Given the description of an element on the screen output the (x, y) to click on. 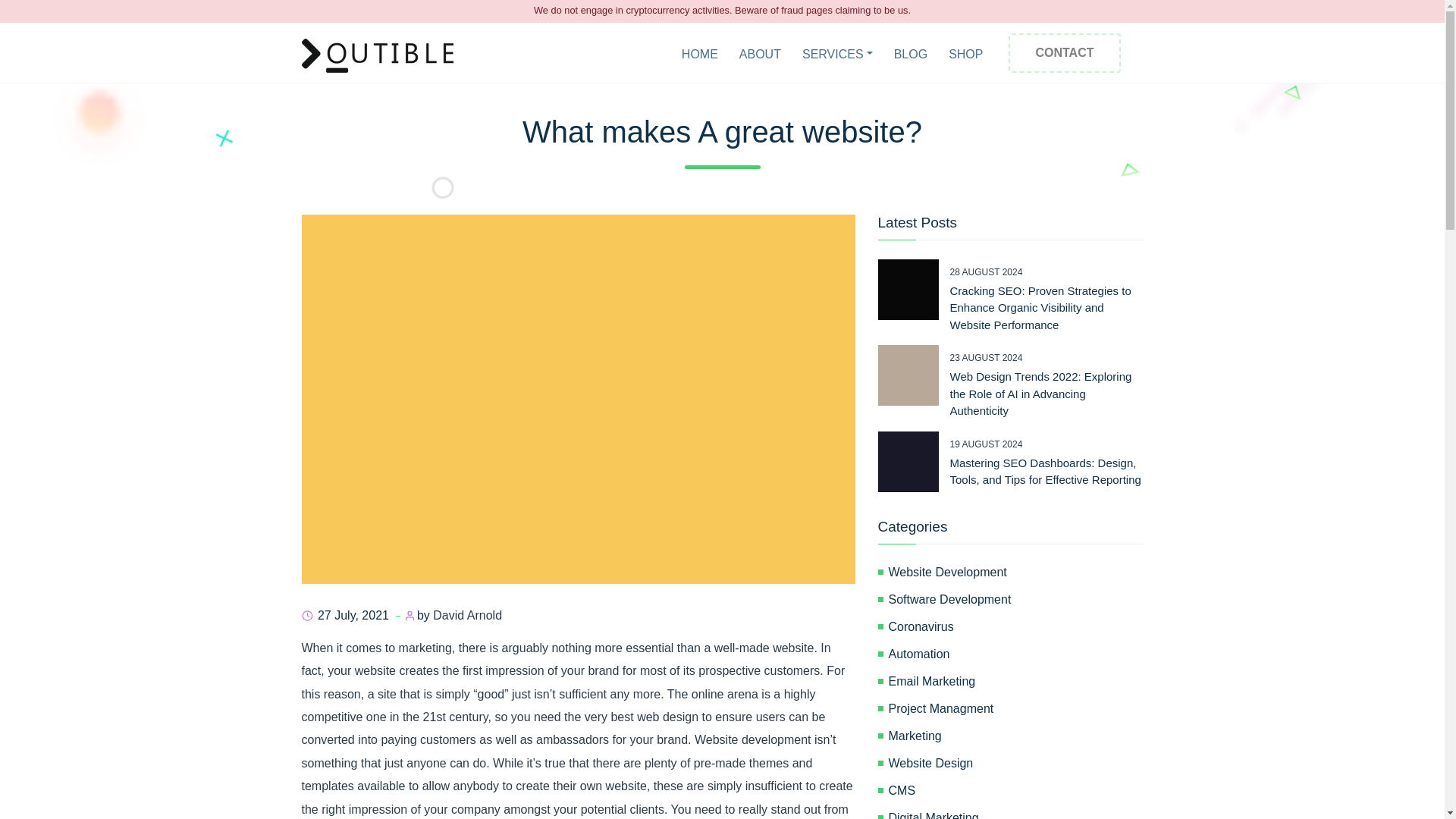
Software Development (1015, 599)
Email Marketing (1015, 681)
Digital Marketing (1015, 814)
Coronavirus (1015, 627)
HOME (699, 54)
Path 5Created with Sketch. (1102, 173)
Website Development (1015, 572)
Path 5Created with Sketch. (1292, 95)
Marketing (1015, 736)
